Given the description of an element on the screen output the (x, y) to click on. 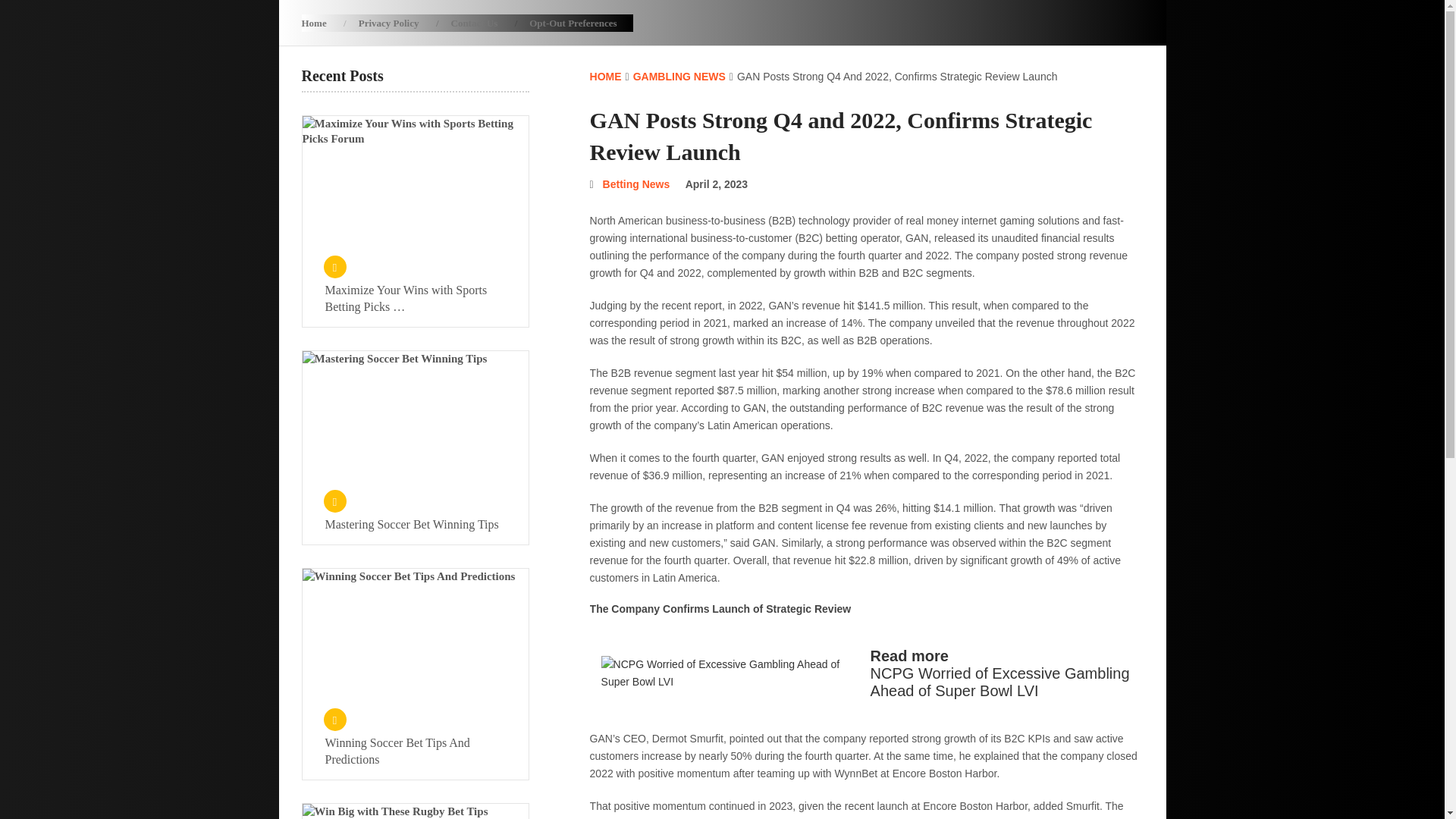
GAMBLING NEWS (679, 76)
Opt-Out Preferences (572, 22)
Privacy Policy (388, 22)
Winning Soccer Bet Tips And Predictions (414, 751)
Winning Soccer Bet Tips And Predictions (414, 751)
HOME (605, 76)
Home (321, 22)
Mastering Soccer Bet Winning Tips (414, 524)
Mastering Soccer Bet Winning Tips (414, 524)
